Given the description of an element on the screen output the (x, y) to click on. 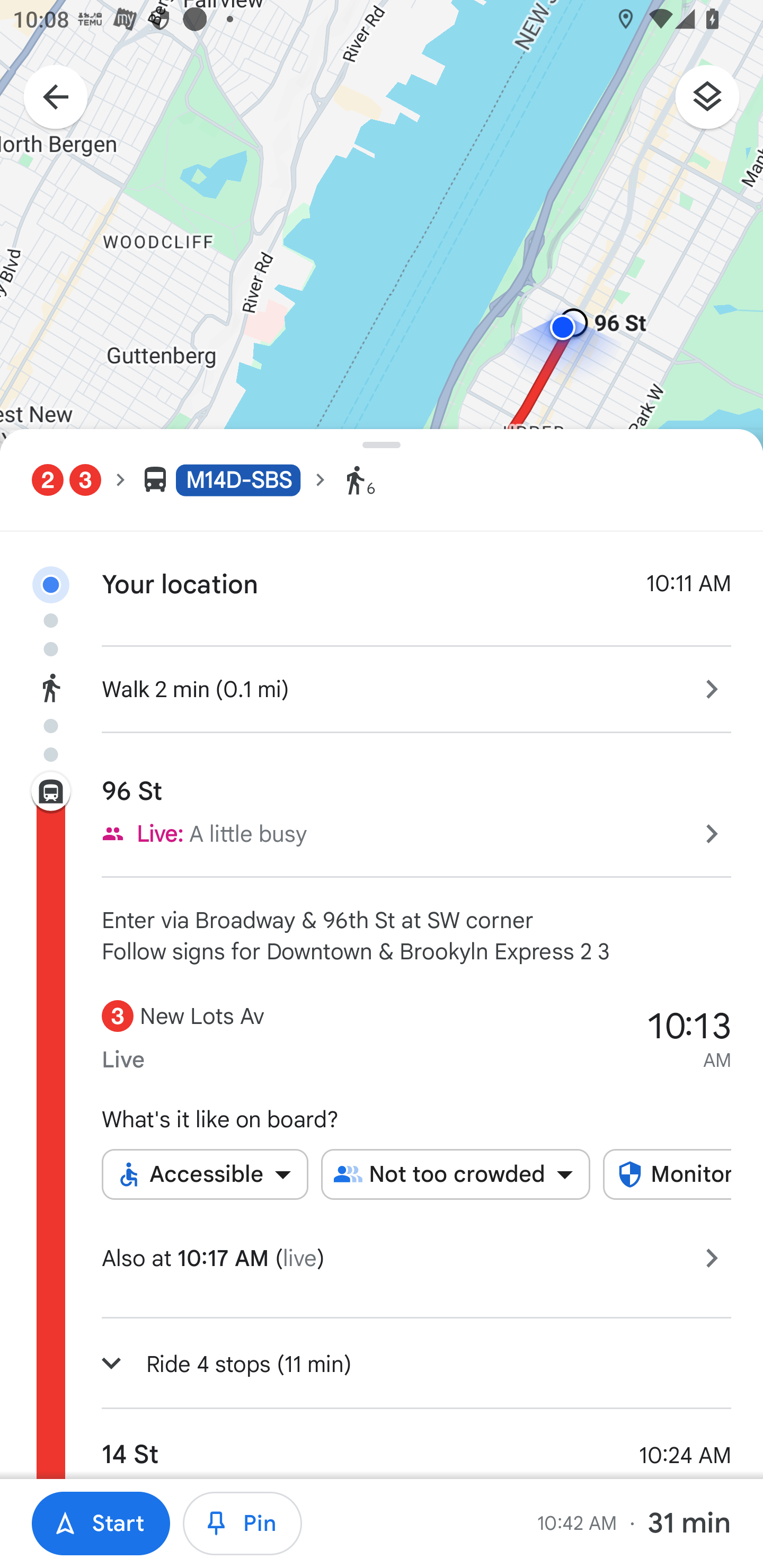
Back (46, 98)
Layers (716, 103)
Your location Your location 10:11 AM (381, 568)
Walk 2 min (0.1 mi) Zoom map (381, 686)
Accessible Accessible Accessible (204, 1174)
Not too crowded Not too crowded Not too crowded (455, 1174)
Pin trip Pin Pin trip (242, 1522)
